Given the description of an element on the screen output the (x, y) to click on. 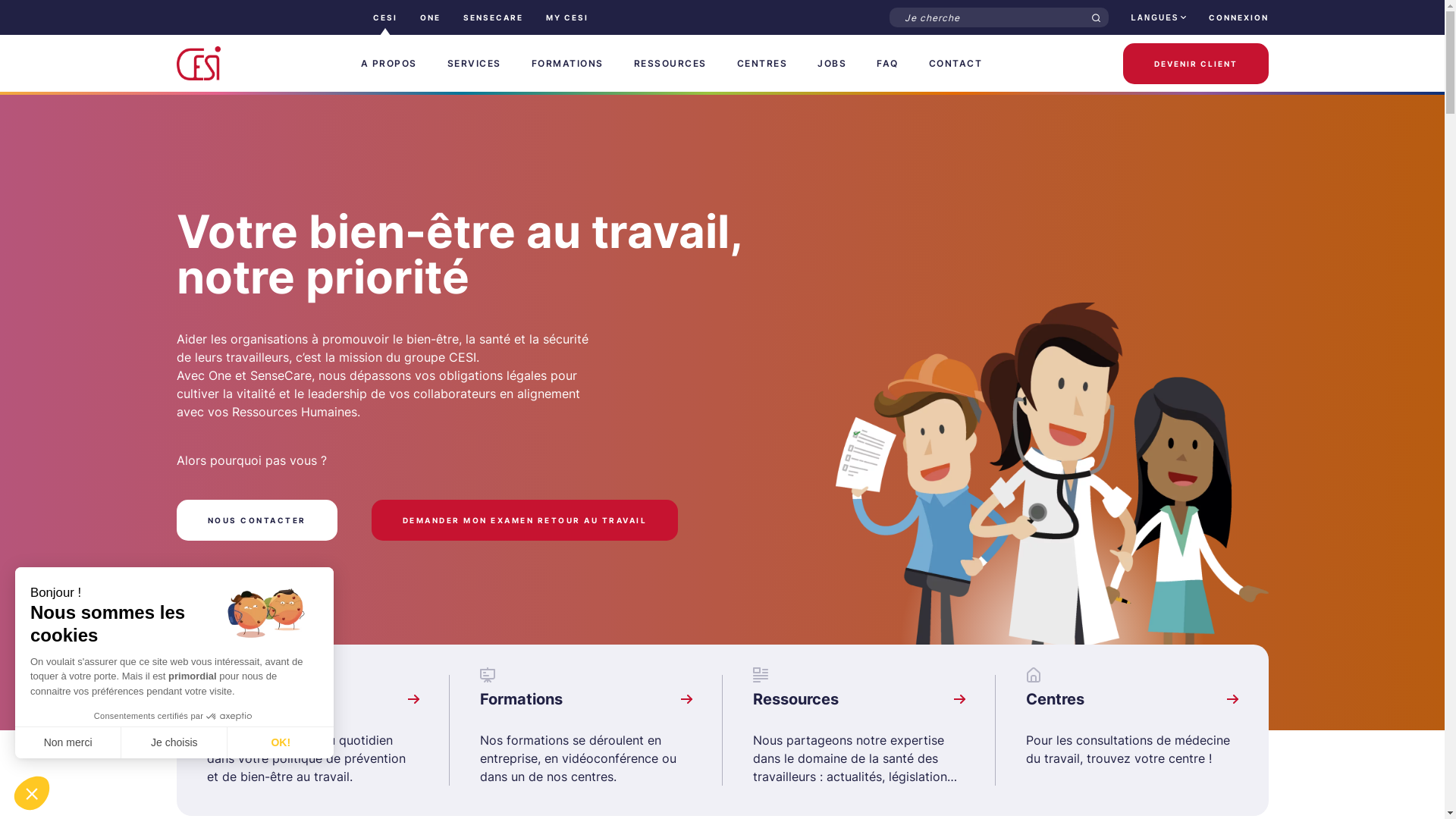
DEMANDER MON EXAMEN RETOUR AU TRAVAIL Element type: text (524, 519)
A PROPOS Element type: text (388, 63)
NOUS CONTACTER Element type: text (255, 519)
SERVICES Element type: text (474, 63)
LANGUES Element type: text (1158, 16)
RESSOURCES Element type: text (669, 63)
FORMATIONS Element type: text (567, 63)
CESI Element type: text (385, 17)
FAQ Element type: text (887, 63)
CENTRES Element type: text (762, 63)
SENSECARE Element type: text (493, 17)
ONE Element type: text (430, 17)
MY CESI Element type: text (567, 17)
Search Element type: text (1096, 17)
CONTACT Element type: text (955, 63)
DEVENIR CLIENT Element type: text (1195, 63)
JOBS Element type: text (831, 63)
CONNEXION Element type: text (1238, 17)
